Given the description of an element on the screen output the (x, y) to click on. 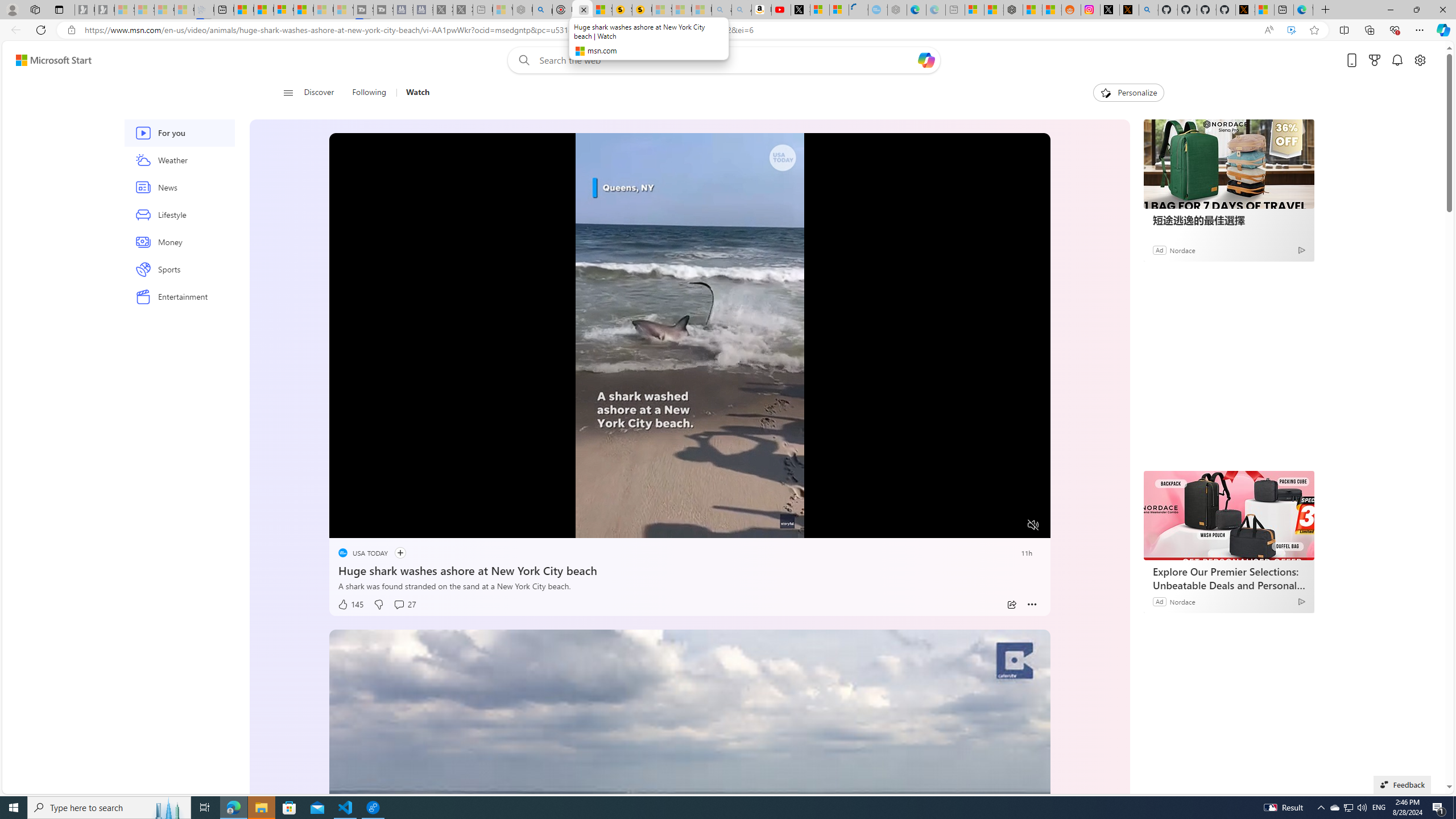
Huge shark washes ashore at New York City beach (689, 568)
